Given the description of an element on the screen output the (x, y) to click on. 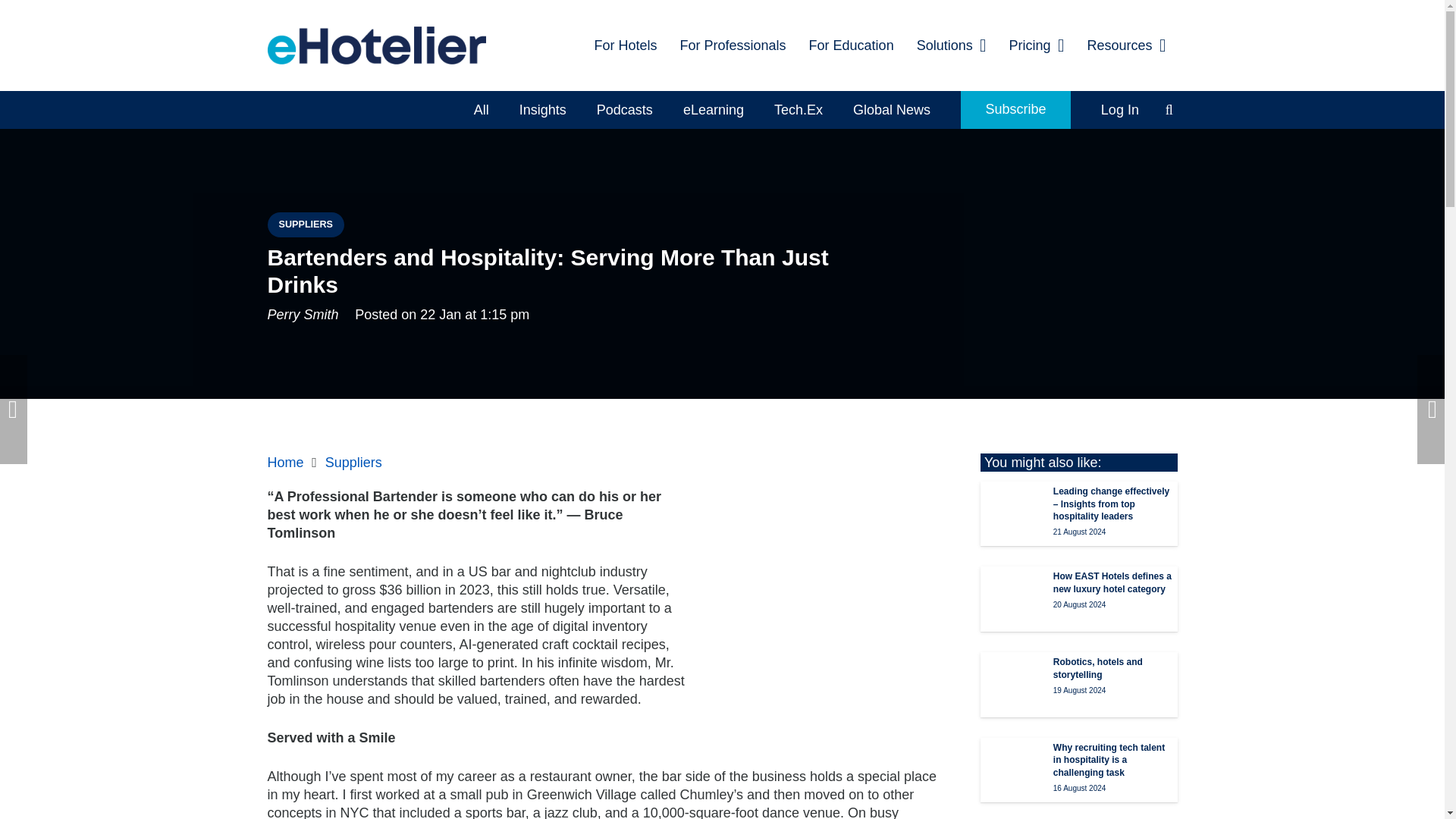
Global News (891, 109)
All (480, 109)
Solutions (951, 45)
SUPPLIERS (304, 224)
For Hotels (625, 45)
Subscribe (1015, 109)
Log In (1120, 109)
Resources (1126, 45)
Podcasts (624, 109)
Insights (541, 109)
